Given the description of an element on the screen output the (x, y) to click on. 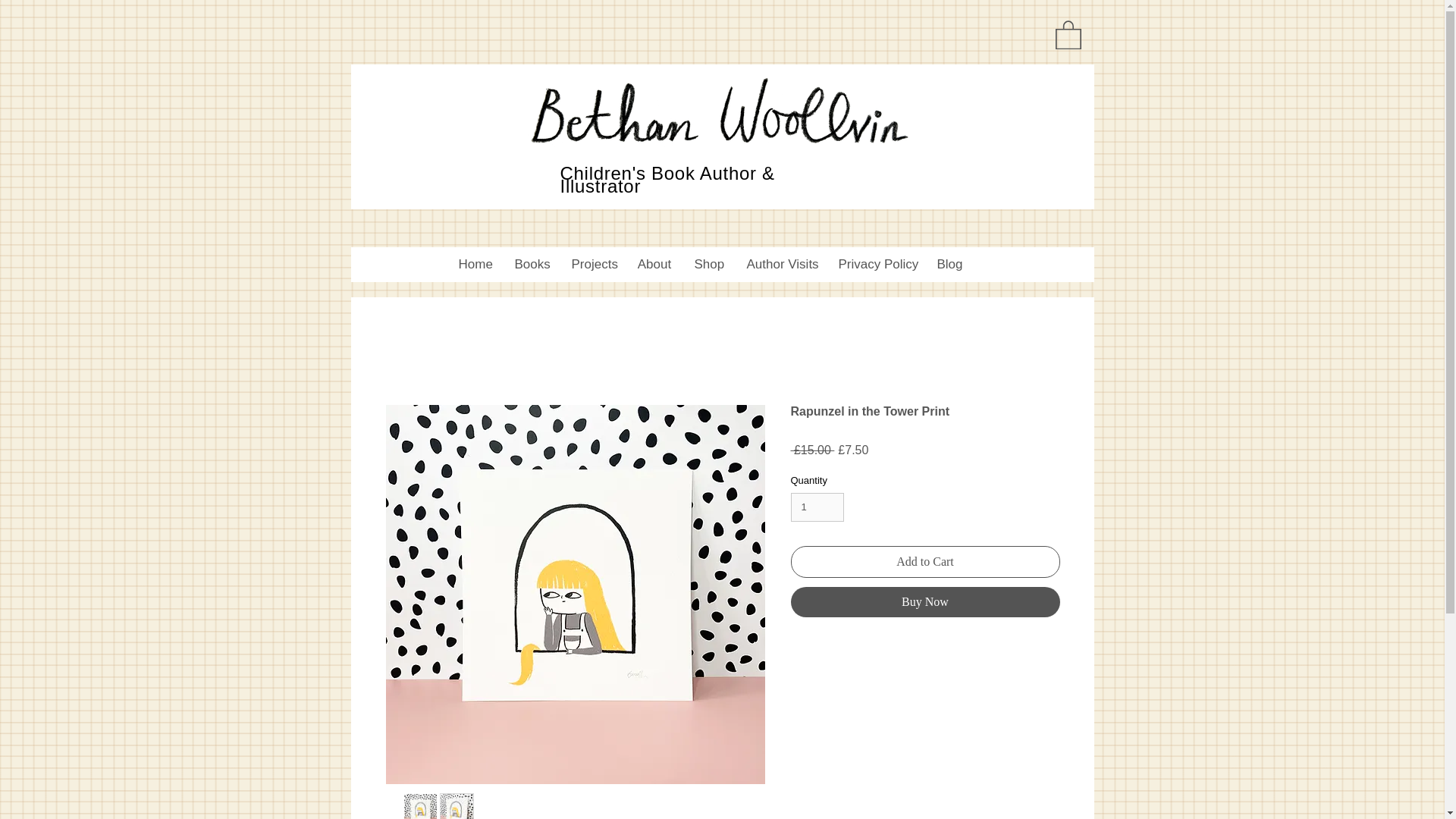
Blog (949, 264)
Privacy Policy (875, 264)
Behtan Woollvin Name Logo.png (720, 111)
Books (531, 264)
About (654, 264)
Add to Cart (924, 562)
Projects (592, 264)
Shop (708, 264)
1 (817, 507)
Home (474, 264)
Author Visits (781, 264)
Buy Now (924, 602)
